Given the description of an element on the screen output the (x, y) to click on. 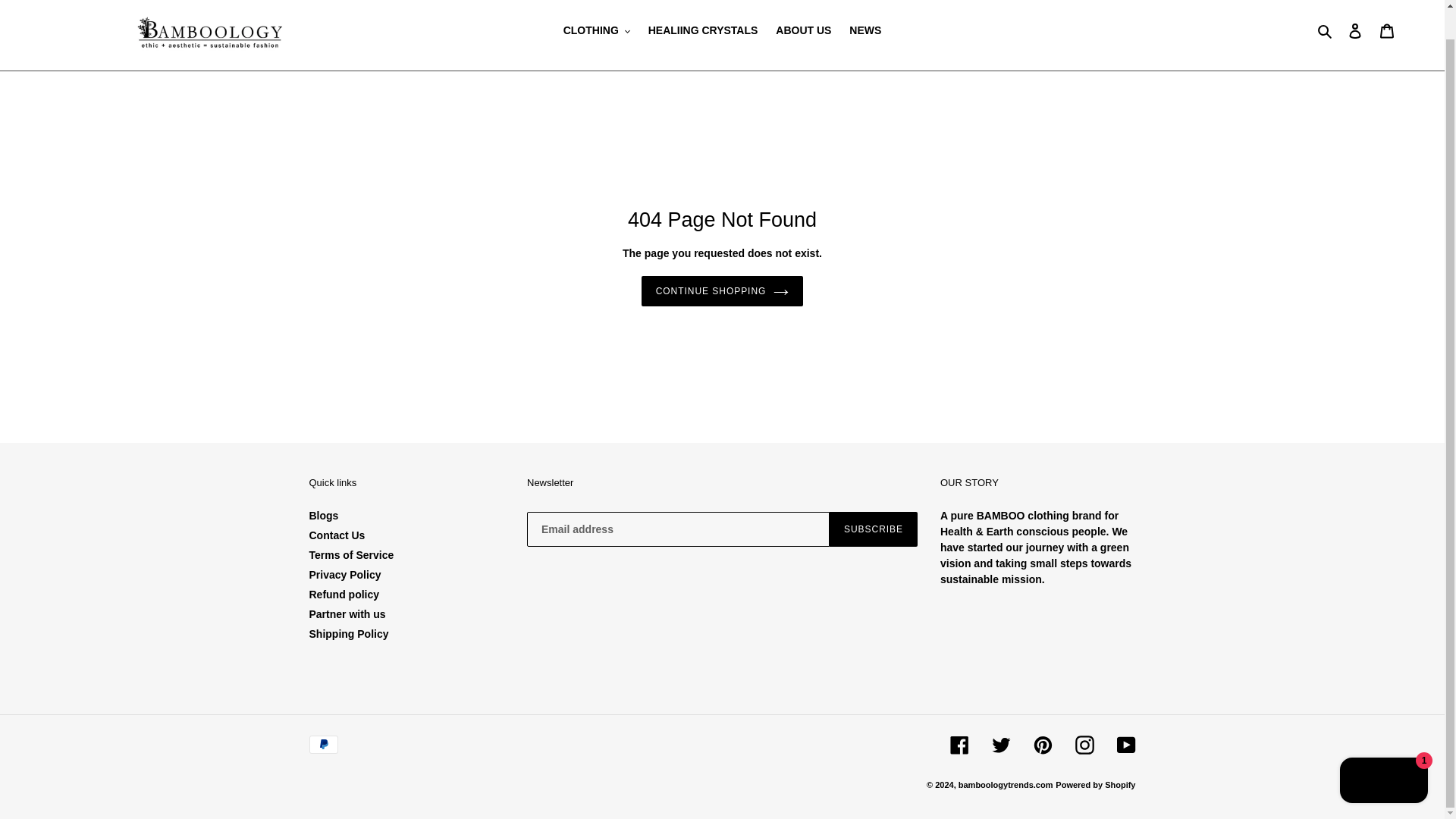
Contact Us (336, 535)
Shopify online store chat (1383, 752)
NEWS (864, 30)
Blogs (323, 515)
Log in (1355, 30)
Shipping Policy (348, 633)
Search (1326, 30)
Twitter (1000, 744)
SUBSCRIBE (873, 529)
Partner with us (346, 613)
Cart (1387, 30)
Facebook (958, 744)
Terms of Service (351, 554)
CONTINUE SHOPPING (722, 291)
Pinterest (1041, 744)
